Given the description of an element on the screen output the (x, y) to click on. 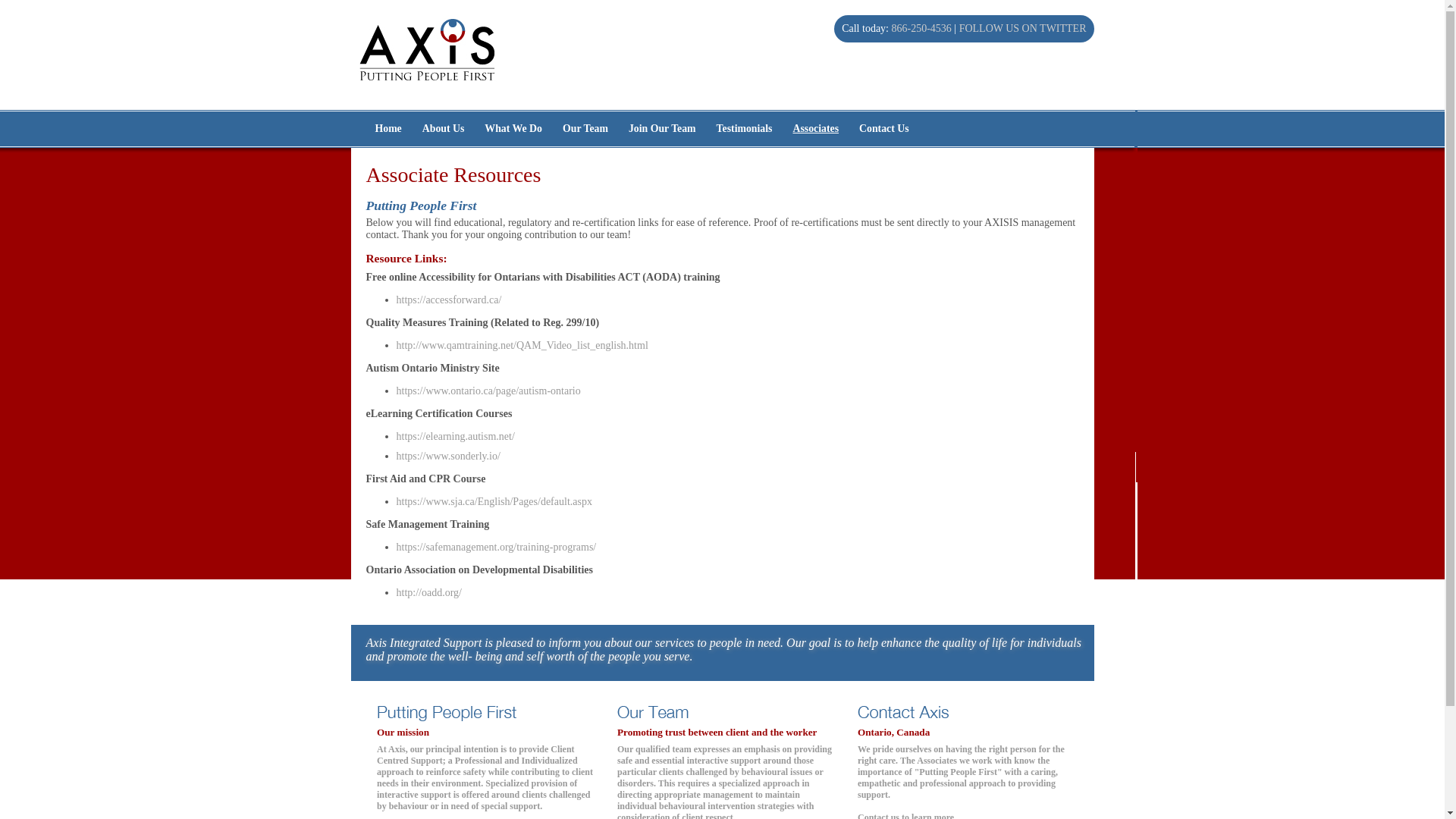
Contact Us Element type: text (883, 128)
http://www.qamtraining.net/QAM_Video_list_english.html Element type: text (521, 345)
https://www.sja.ca/English/Pages/default.aspx Element type: text (493, 501)
Associates Element type: text (815, 128)
FOLLOW US ON TWITTER Element type: text (1022, 28)
https://elearning.autism.net/ Element type: text (454, 436)
https://www.sonderly.io/ Element type: text (447, 455)
Join Our Team Element type: text (662, 128)
Home Element type: text (387, 128)
https://safemanagement.org/training-programs/ Element type: text (495, 546)
http://oadd.org/ Element type: text (428, 592)
Testimonials Element type: text (744, 128)
866-250-4536 Element type: text (921, 28)
https://www.ontario.ca/page/autism-ontario Element type: text (487, 390)
https://accessforward.ca/ Element type: text (448, 299)
What We Do Element type: text (512, 128)
About Us Element type: text (443, 128)
Our Team Element type: text (585, 128)
